Given the description of an element on the screen output the (x, y) to click on. 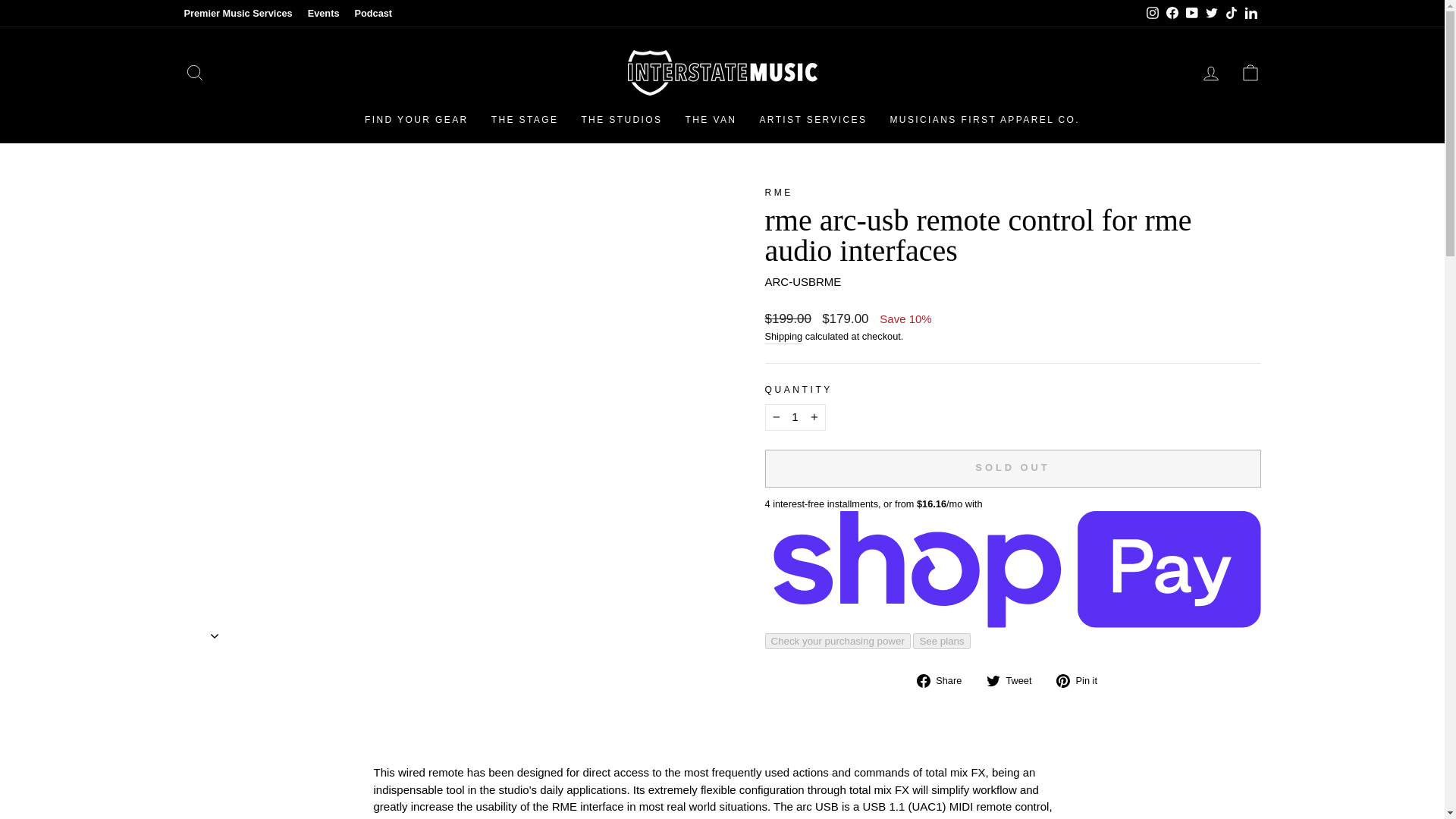
Interstate Music on LinkedIn (1250, 13)
Tweet on Twitter (1014, 680)
Podcast (372, 13)
Interstate Music on Facebook (1170, 13)
Interstate Music on Twitter (1211, 13)
1 (794, 417)
Premier Music Services (237, 13)
RME (778, 192)
Events (323, 13)
Interstate Music on Instagram (1151, 13)
